Given the description of an element on the screen output the (x, y) to click on. 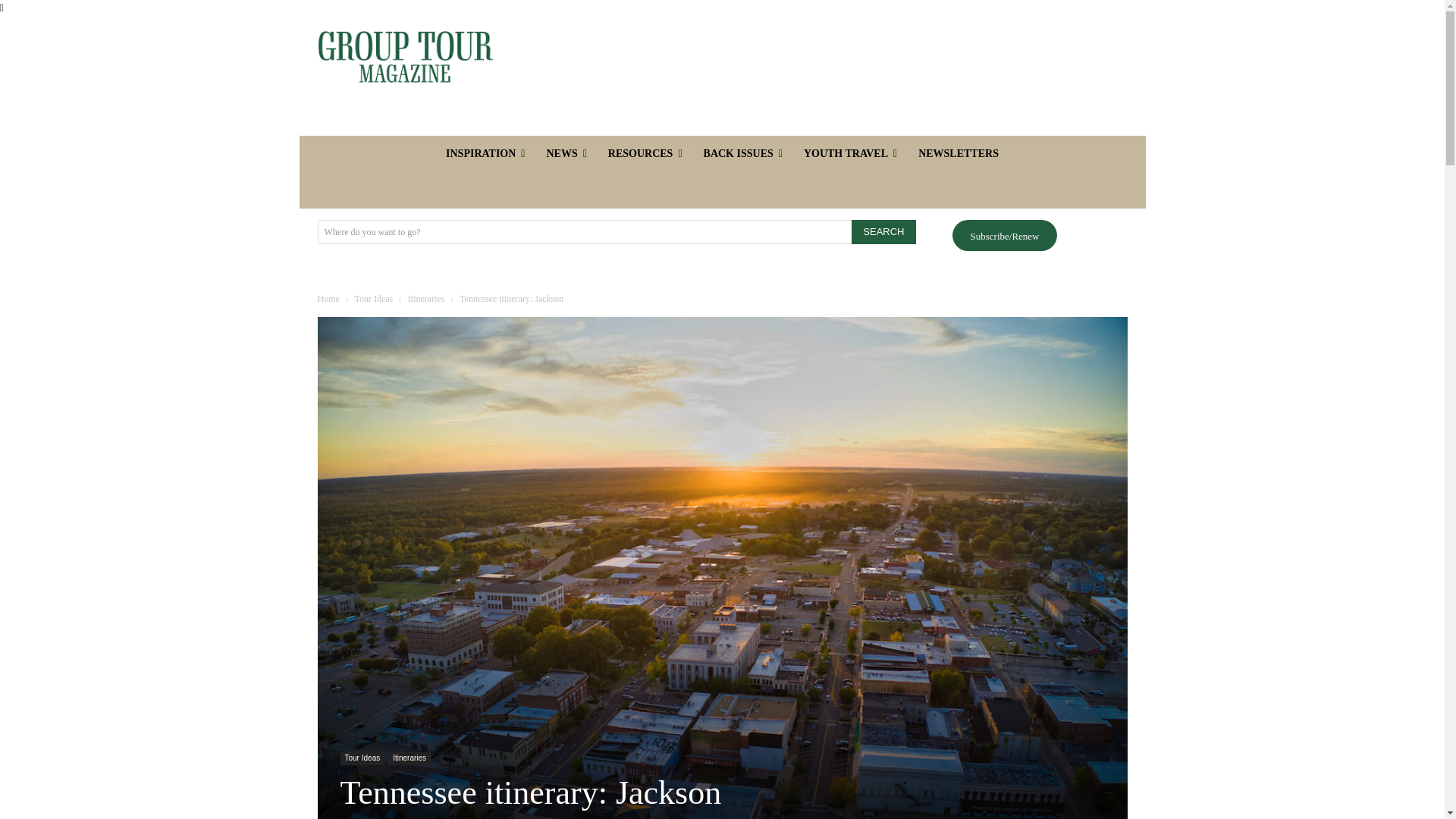
NEWS (565, 153)
INSPIRATION (485, 153)
Group Tour magazine (404, 56)
